Given the description of an element on the screen output the (x, y) to click on. 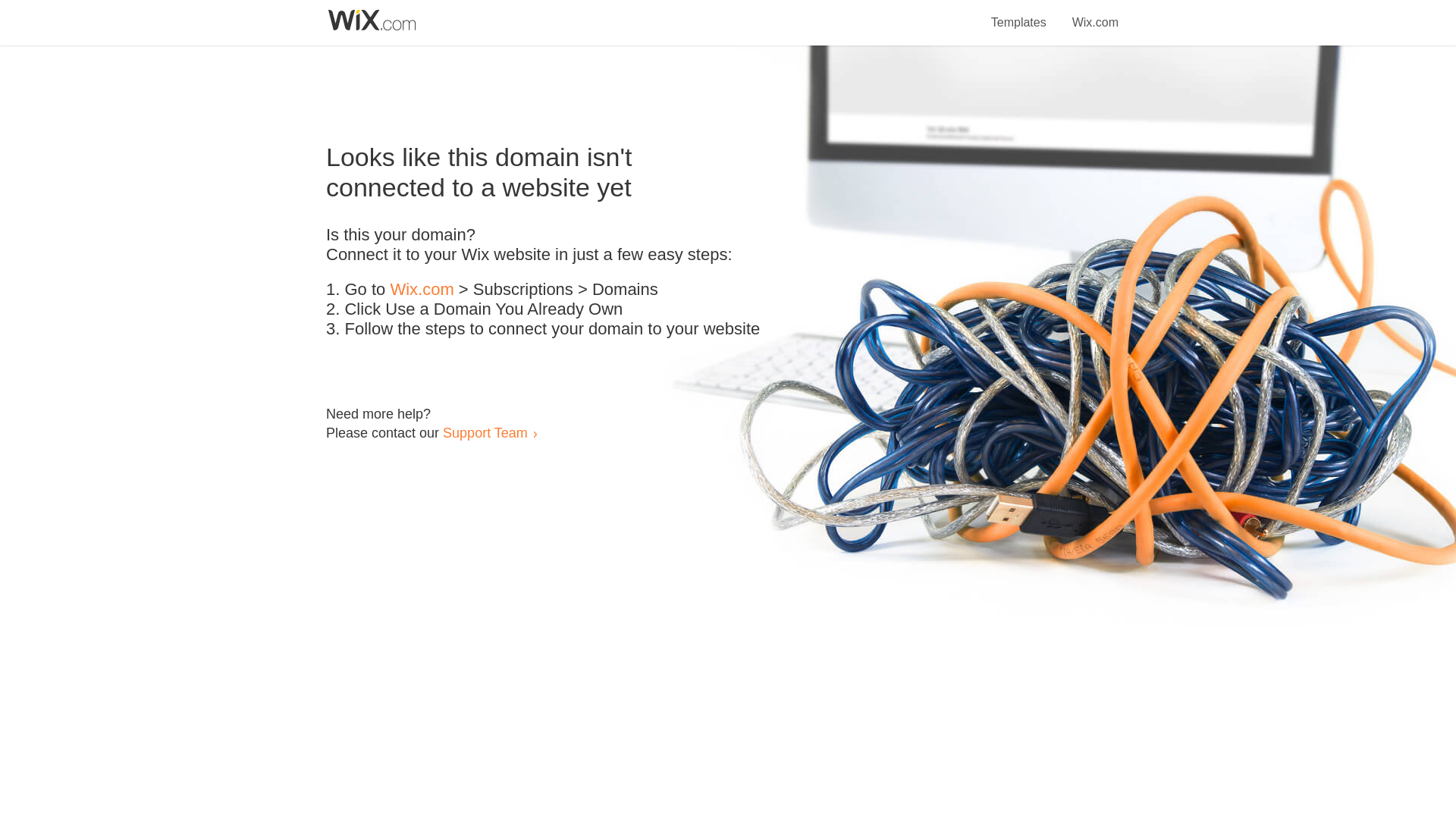
Wix.com (421, 289)
Support Team (484, 432)
Templates (1018, 14)
Wix.com (1095, 14)
